Given the description of an element on the screen output the (x, y) to click on. 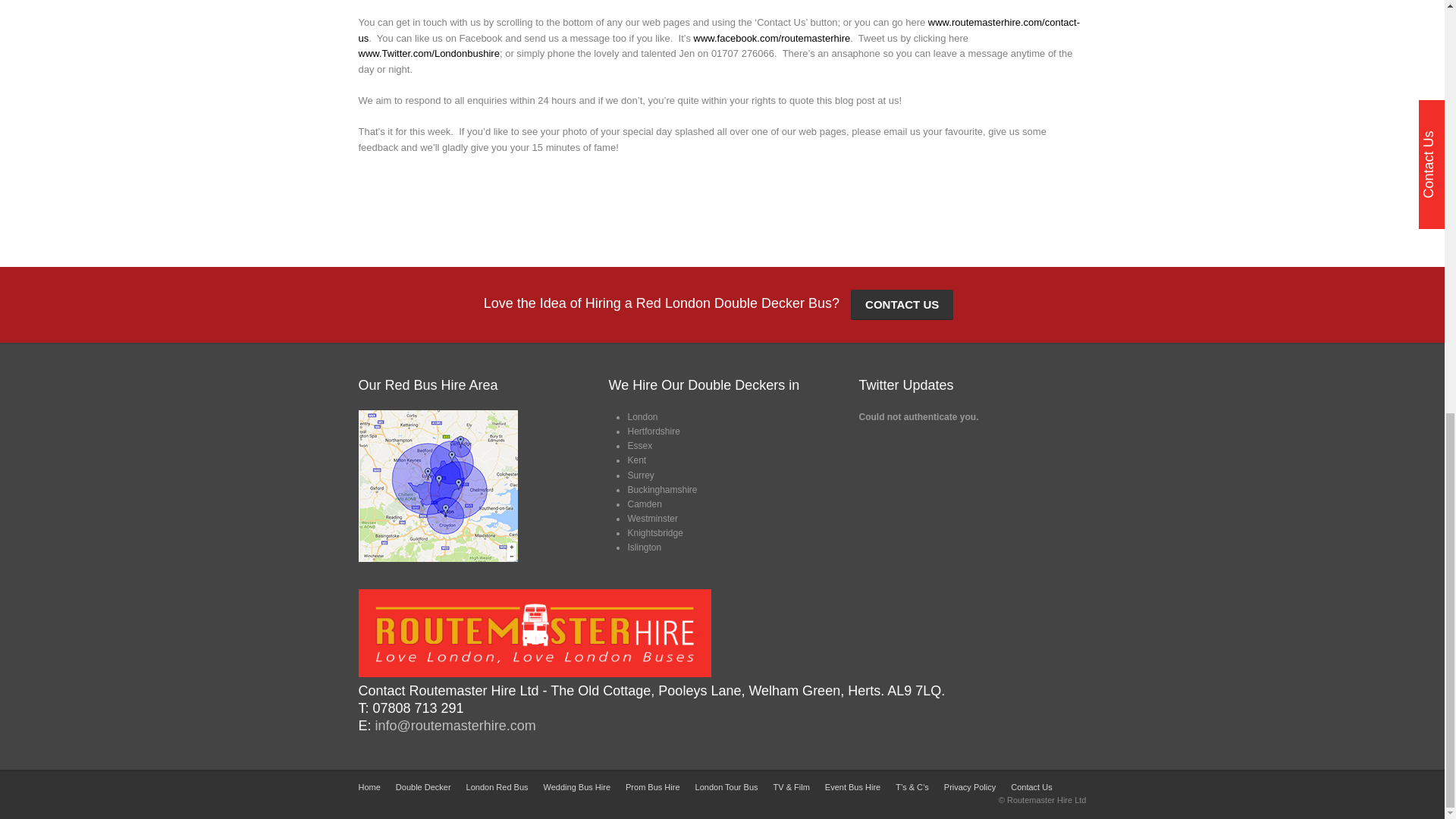
Wedding Bus Hire (576, 786)
TV and Film Hire (791, 786)
Contact Routemaster Hire (1030, 786)
Prom Bus Hire (652, 786)
London Tour Bus Hire (726, 786)
London Red Bus Hire (496, 786)
Home (369, 786)
CONTACT US (901, 304)
Double Decker Bus Hire (423, 786)
